Given the description of an element on the screen output the (x, y) to click on. 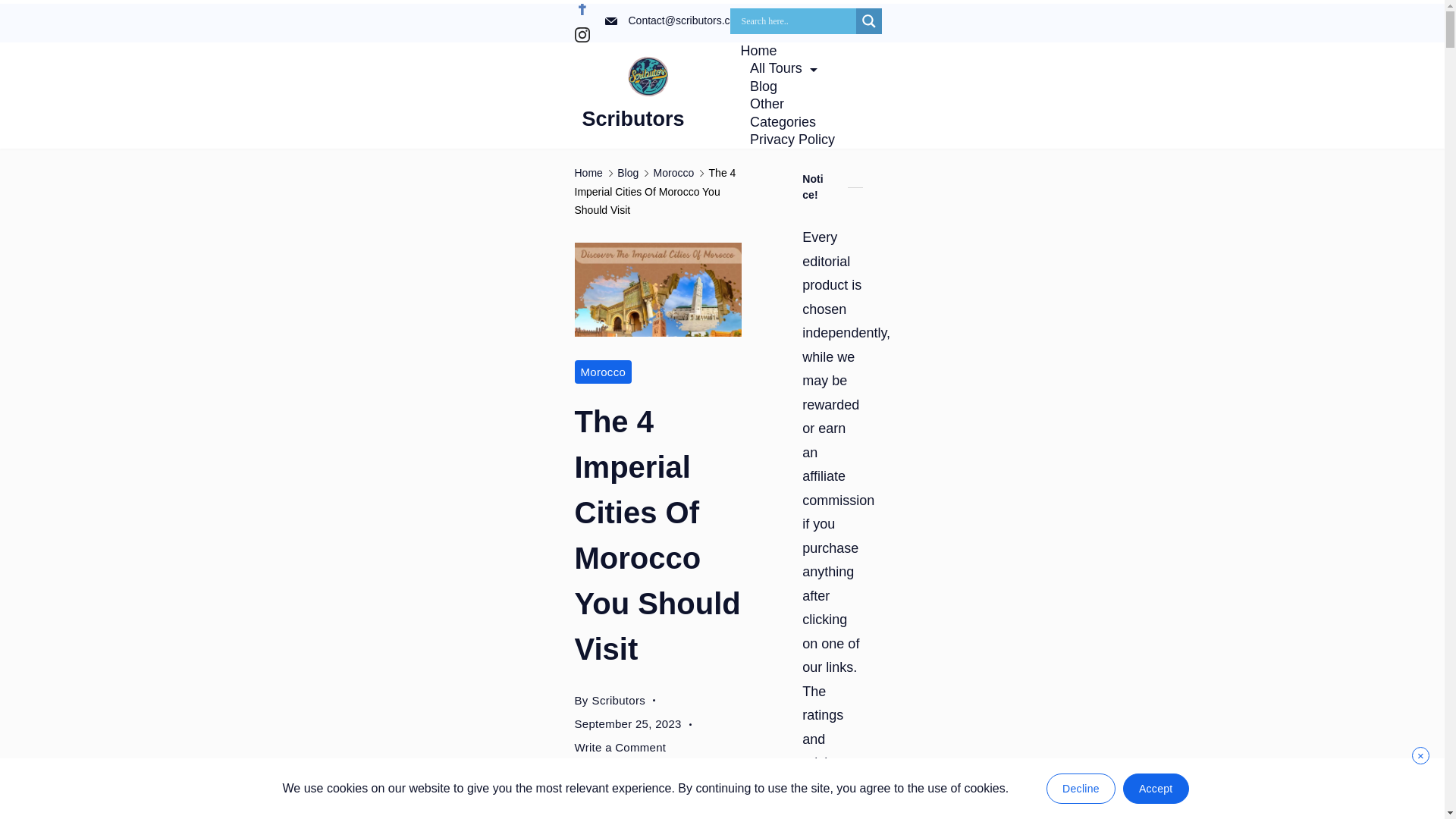
Scributors (633, 118)
Other Categories (795, 113)
Blog (762, 86)
All Tours (783, 67)
Home (762, 50)
Privacy Policy (786, 139)
